Given the description of an element on the screen output the (x, y) to click on. 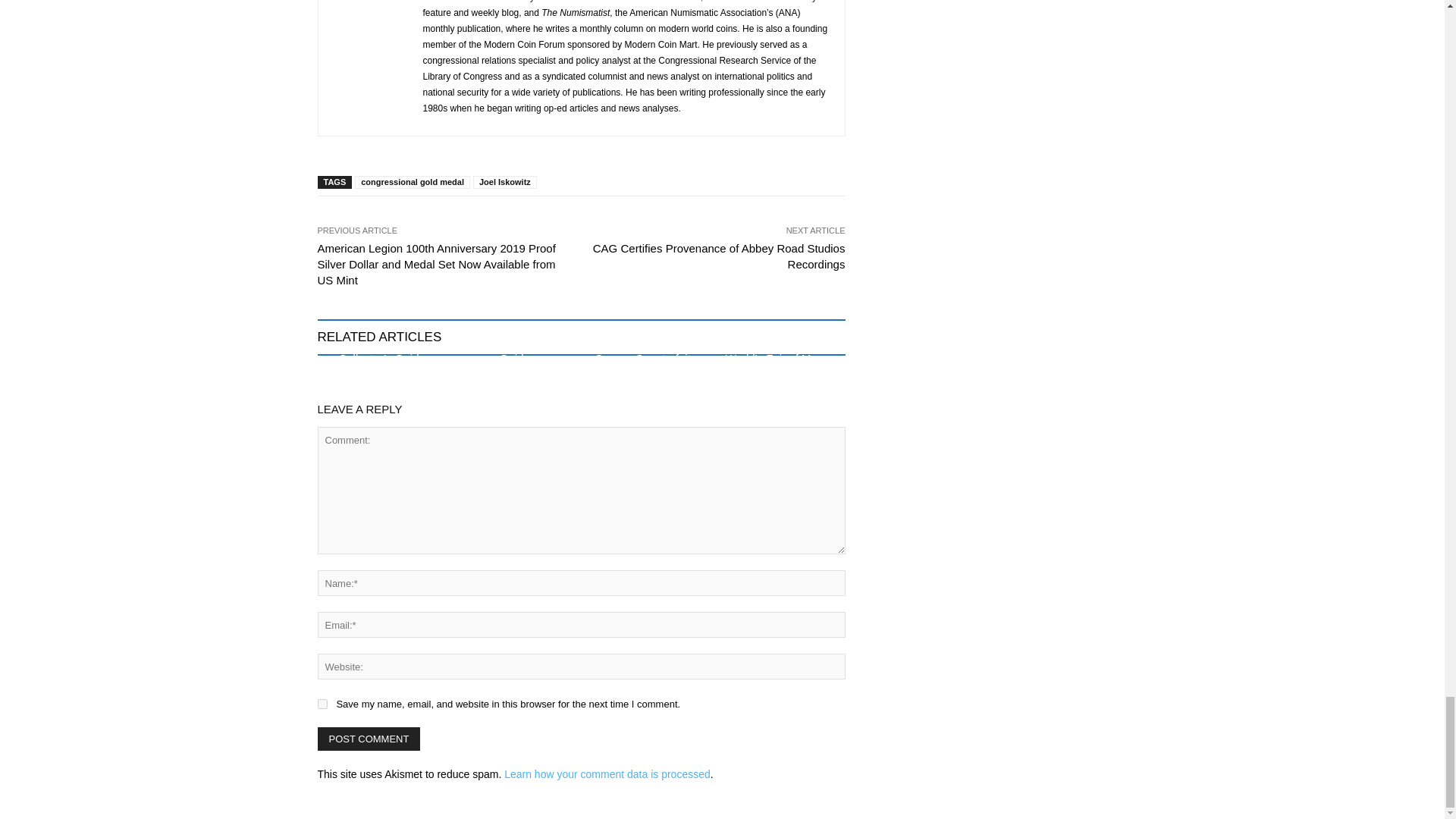
The Mystery of the Omega Counterfeiter (647, 351)
Post Comment (368, 739)
yes (321, 704)
